Given the description of an element on the screen output the (x, y) to click on. 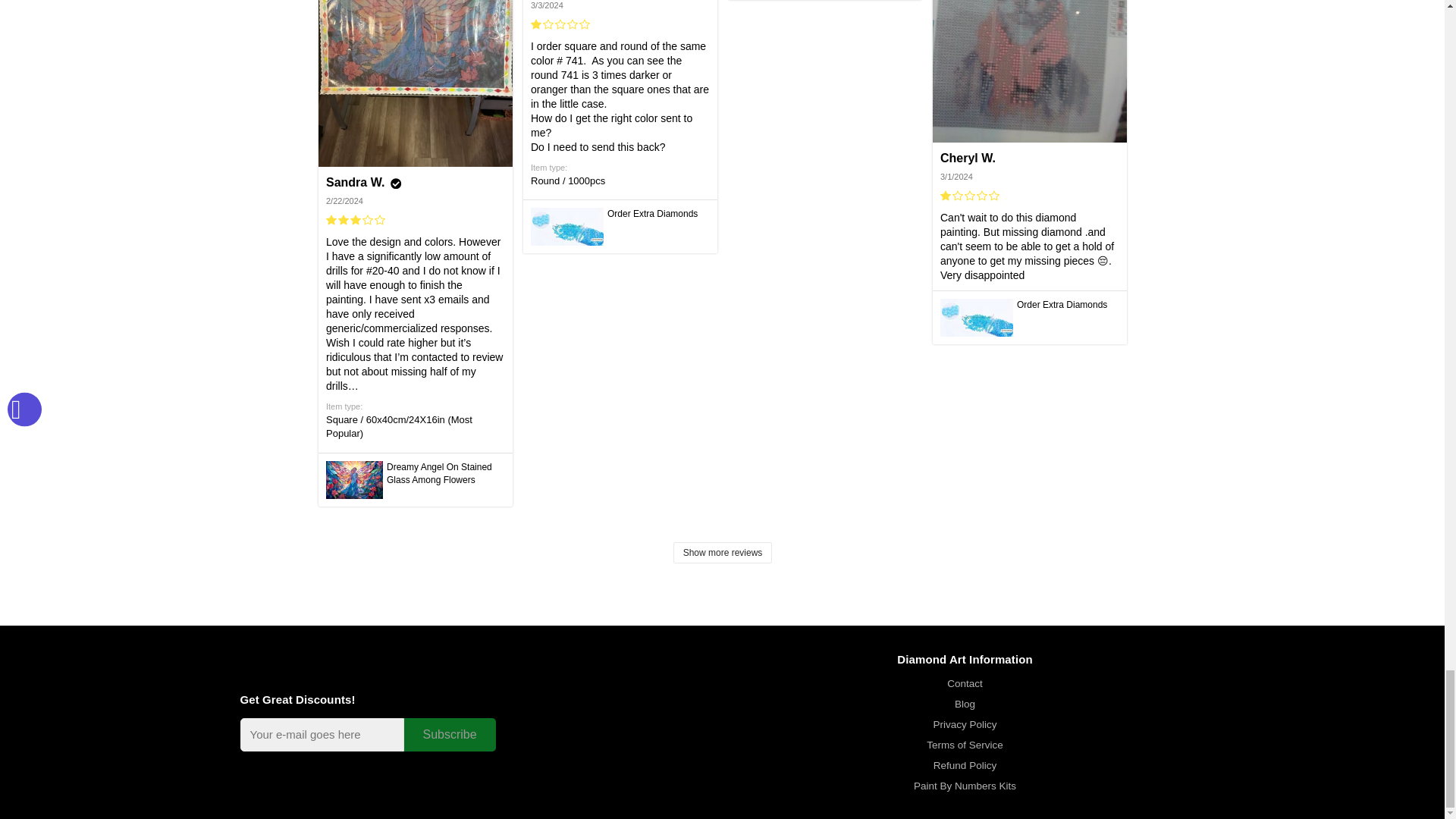
Contact (964, 683)
Blog (964, 704)
Subscribe (449, 734)
